Given the description of an element on the screen output the (x, y) to click on. 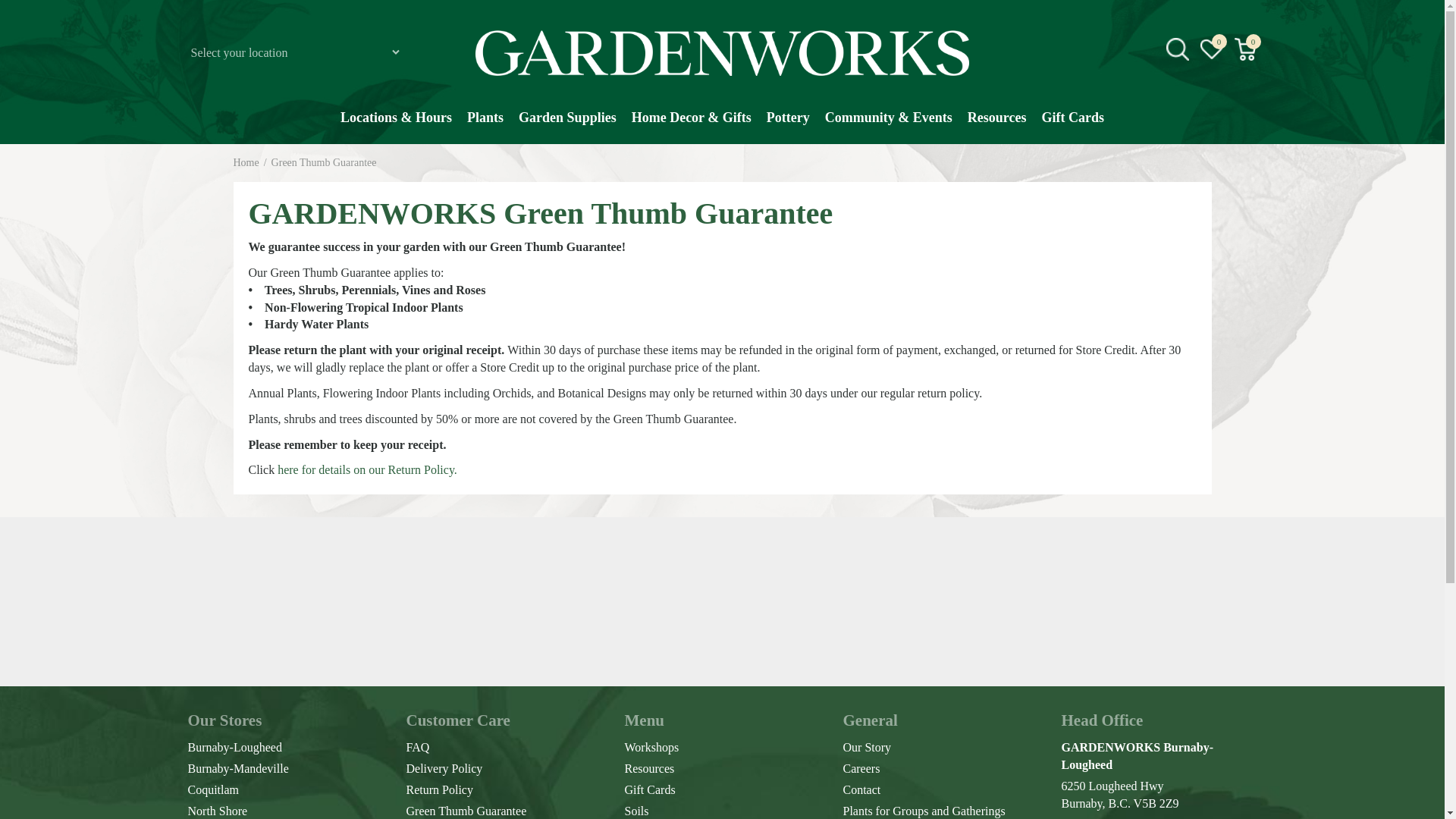
GARDENWORKS garden centres (722, 53)
No items in shopping cart (1245, 48)
Search (1241, 168)
src (1177, 48)
No items in wishlist (1211, 48)
Go to the wishlist (1211, 48)
Home (245, 162)
Plants (485, 125)
Green Thumb Guarantee (323, 162)
Go to the shopping cart (1245, 48)
